Given the description of an element on the screen output the (x, y) to click on. 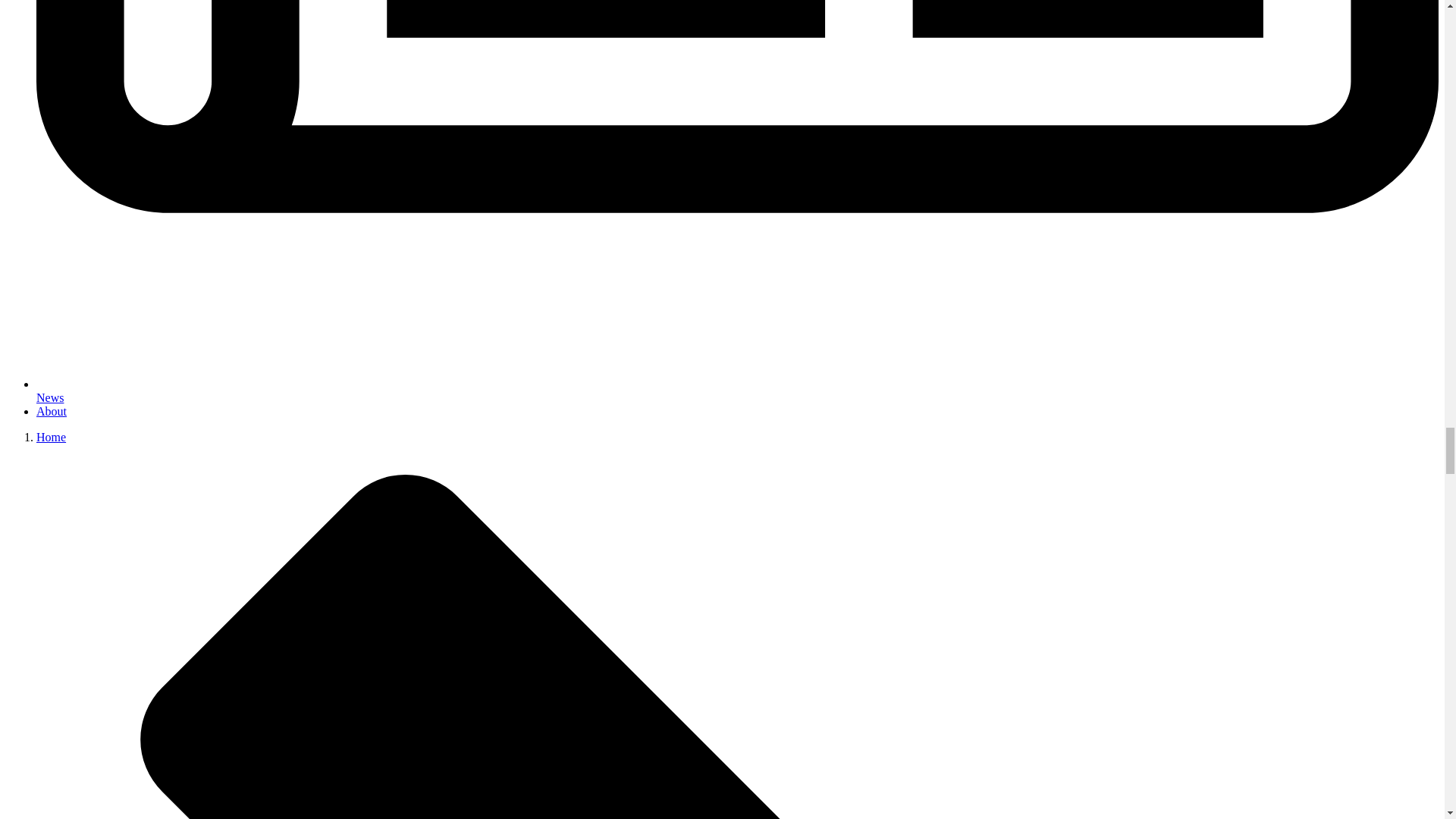
About (51, 410)
Home (50, 436)
